Given the description of an element on the screen output the (x, y) to click on. 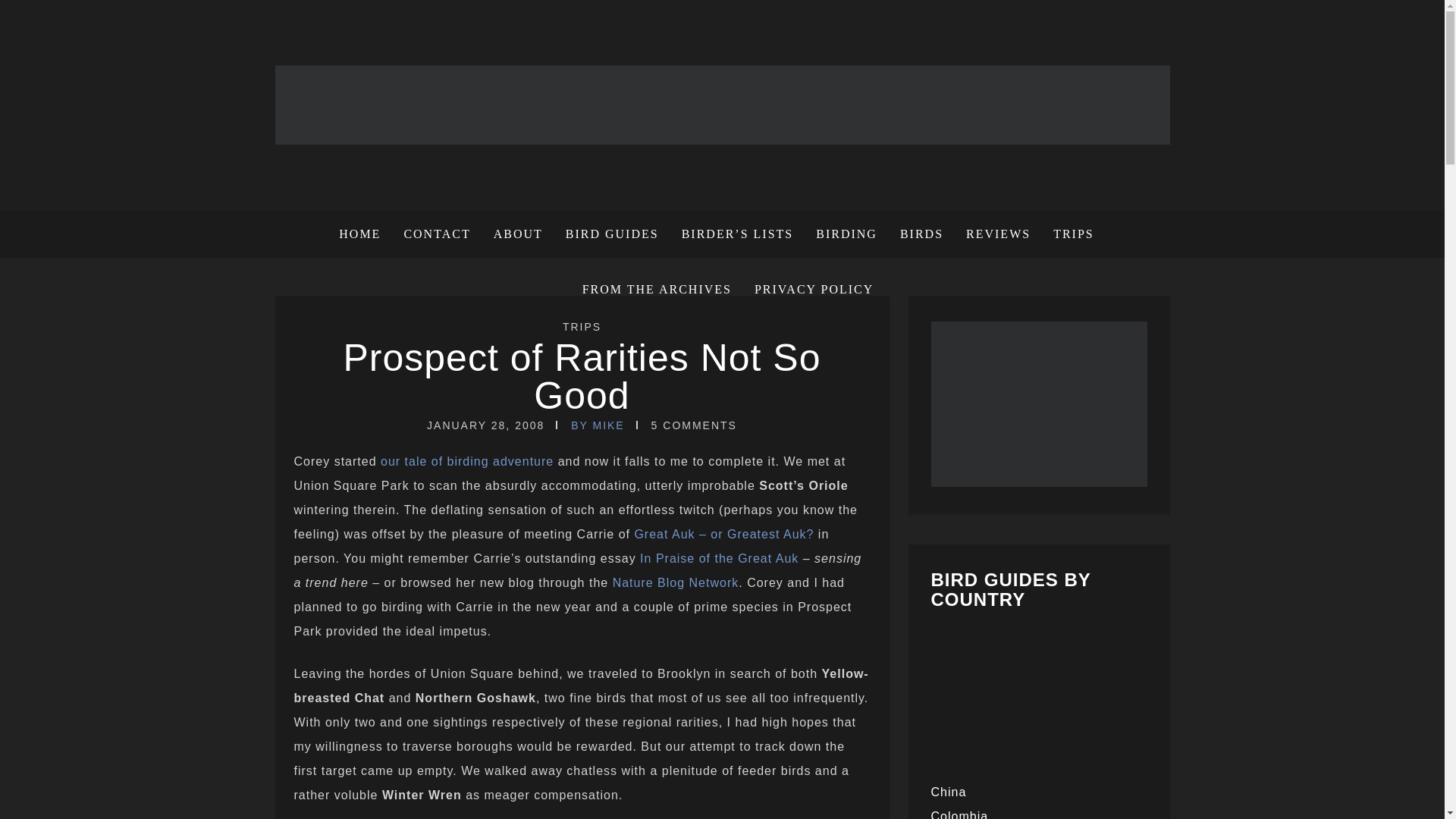
ABOUT (517, 233)
5 COMMENTS (693, 425)
PRIVACY POLICY (807, 289)
TRIPS (581, 326)
HOME (365, 233)
REVIEWS (998, 233)
BY MIKE (597, 425)
FROM THE ARCHIVES (656, 289)
Prospect of Rarities Not So Good (581, 376)
BIRDS (921, 233)
